Given the description of an element on the screen output the (x, y) to click on. 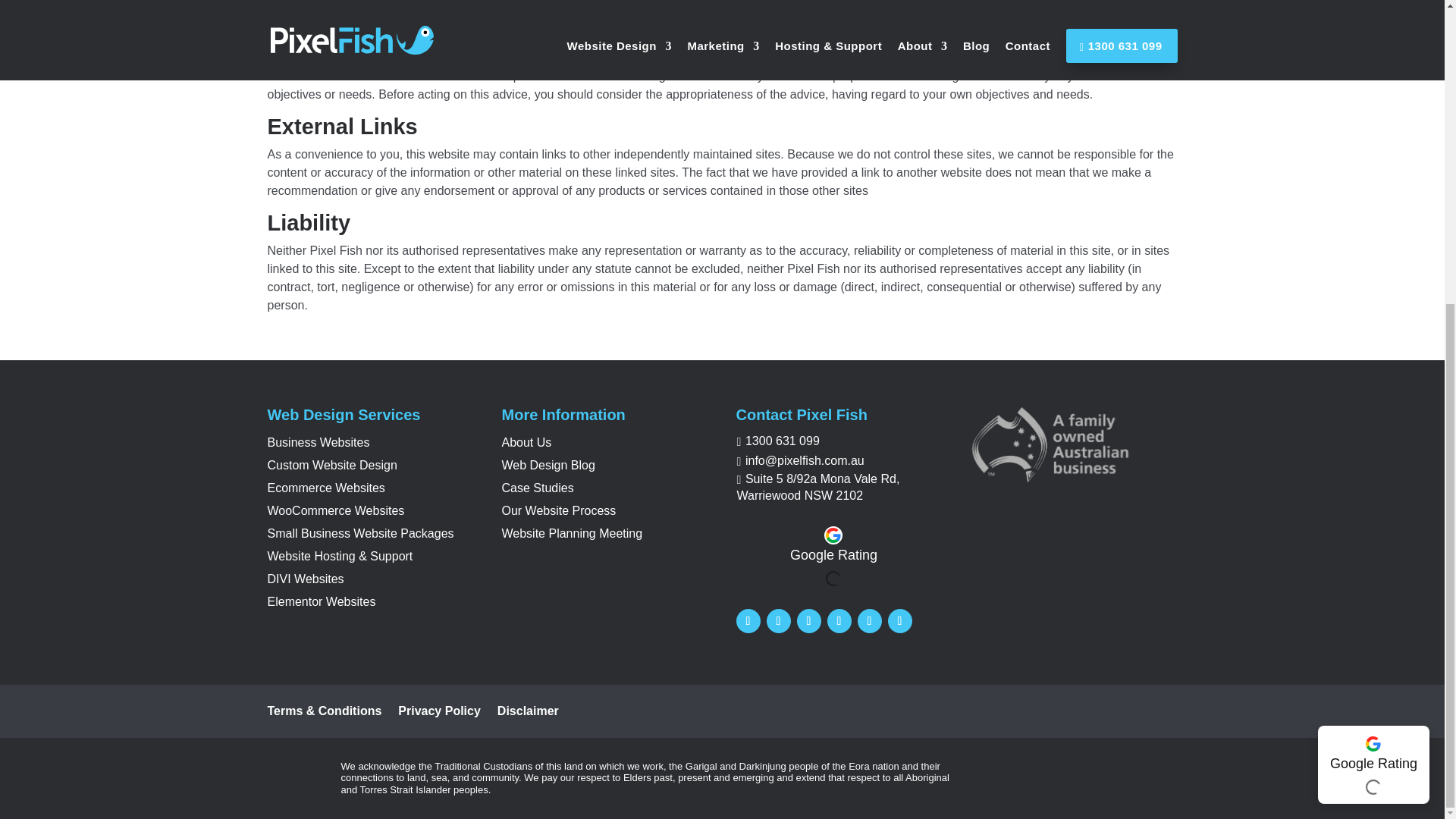
Follow on Instagram (838, 621)
Follow on Youtube (868, 621)
Follow on RSS (898, 621)
Follow on Facebook (747, 621)
Pixel Fish is an Australian Family Owned Business (1050, 480)
Follow on LinkedIn (808, 621)
Follow on X (777, 621)
